Given the description of an element on the screen output the (x, y) to click on. 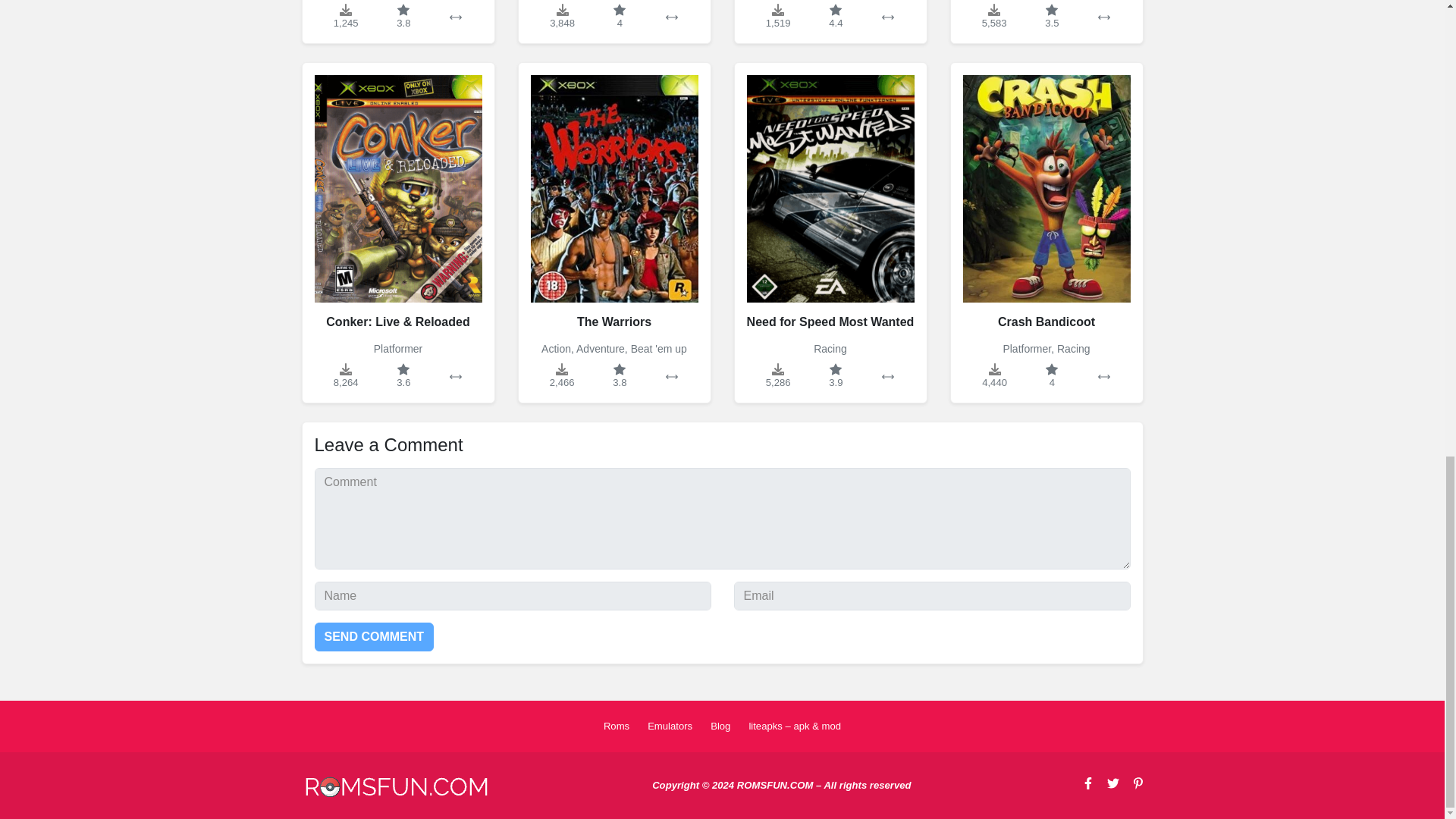
Racing (1073, 348)
Beat 'em up (658, 348)
Action (555, 348)
ROMSFUN.COM (396, 786)
Platformer (1027, 348)
Platformer (398, 348)
Racing (830, 348)
Adventure (600, 348)
